Given the description of an element on the screen output the (x, y) to click on. 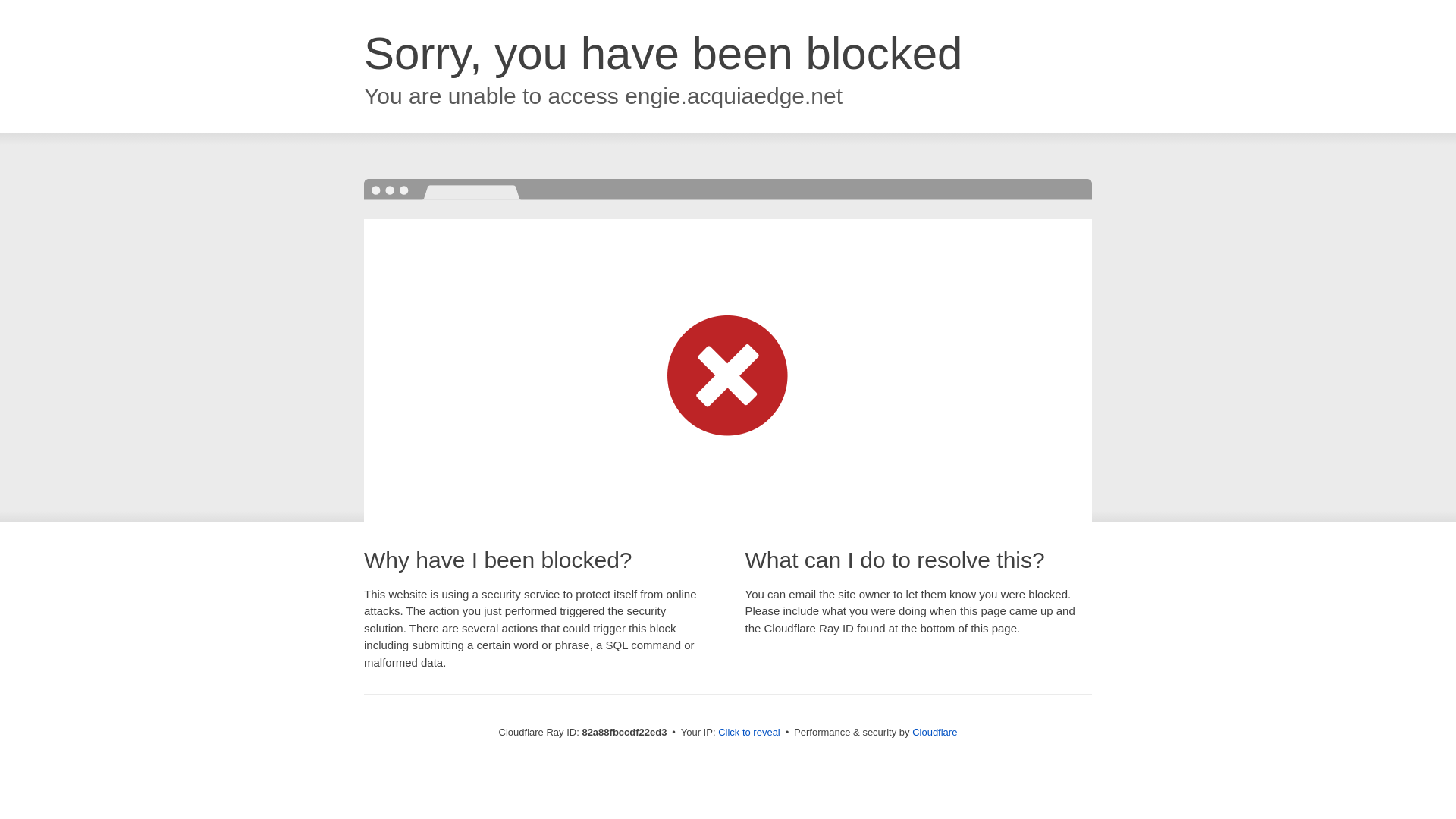
Click to reveal Element type: text (749, 732)
Cloudflare Element type: text (934, 731)
